Given the description of an element on the screen output the (x, y) to click on. 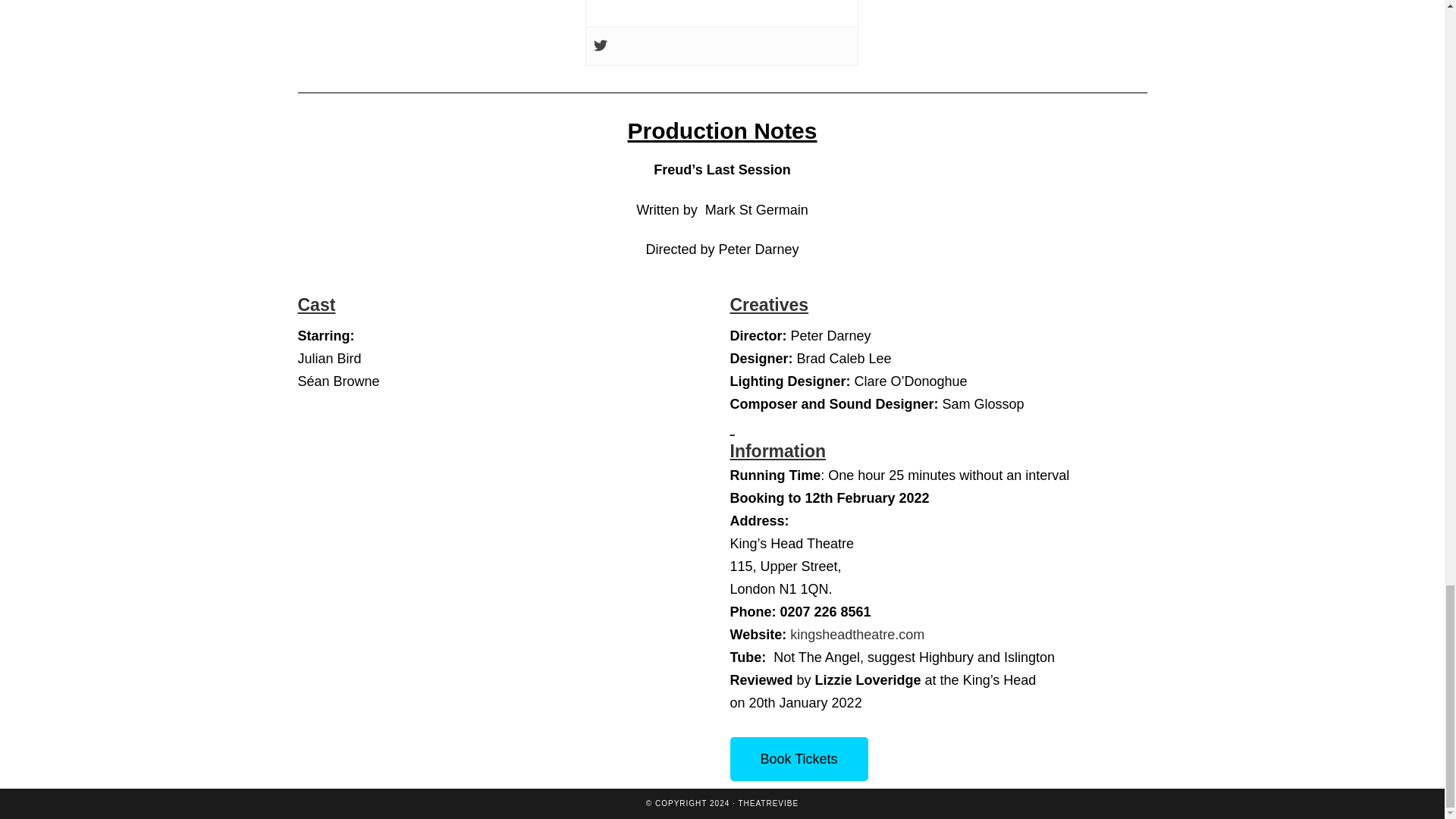
Book Tickets (798, 759)
Twitter (600, 46)
kingsheadtheatre.com (857, 634)
